Given the description of an element on the screen output the (x, y) to click on. 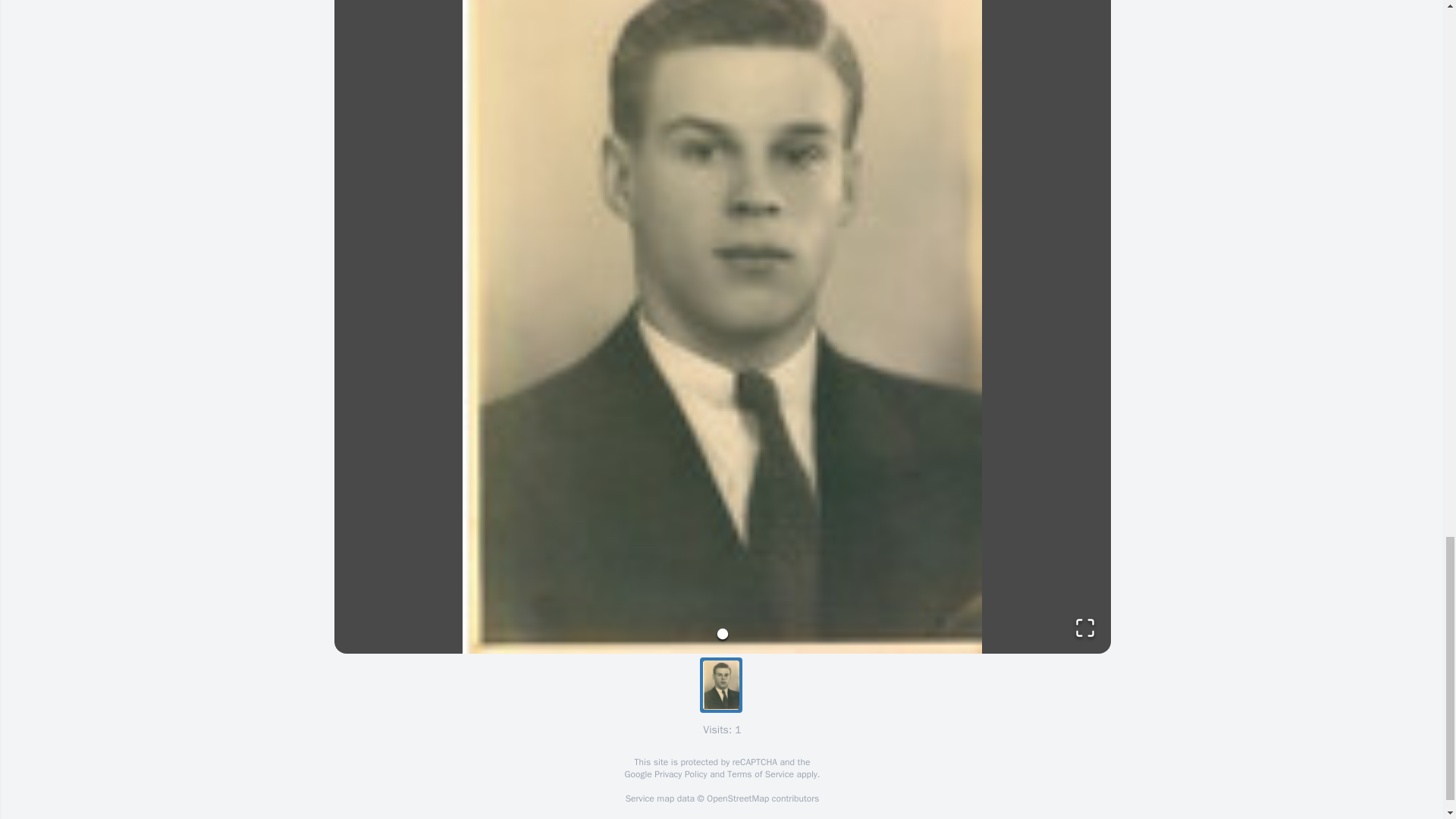
OpenStreetMap (737, 798)
Terms of Service (759, 774)
Privacy Policy (679, 774)
